Given the description of an element on the screen output the (x, y) to click on. 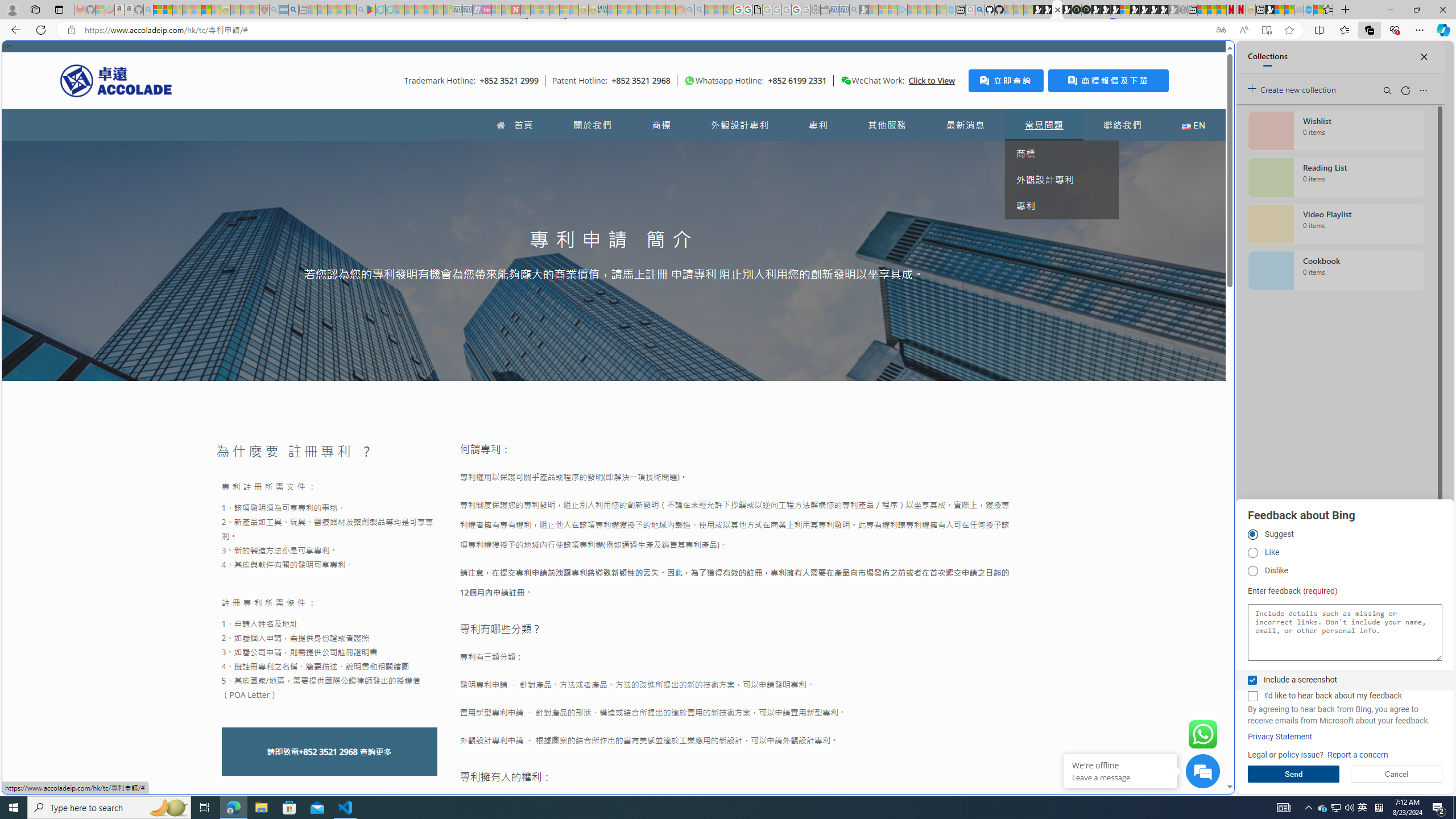
Robert H. Shmerling, MD - Harvard Health - Sleeping (263, 9)
Latest Politics News & Archive | Newsweek.com - Sleeping (515, 9)
Future Focus Report 2024 (1085, 9)
Privacy Statement (1280, 737)
The Weather Channel - MSN - Sleeping (177, 9)
Utah sues federal government - Search - Sleeping (699, 9)
